Given the description of an element on the screen output the (x, y) to click on. 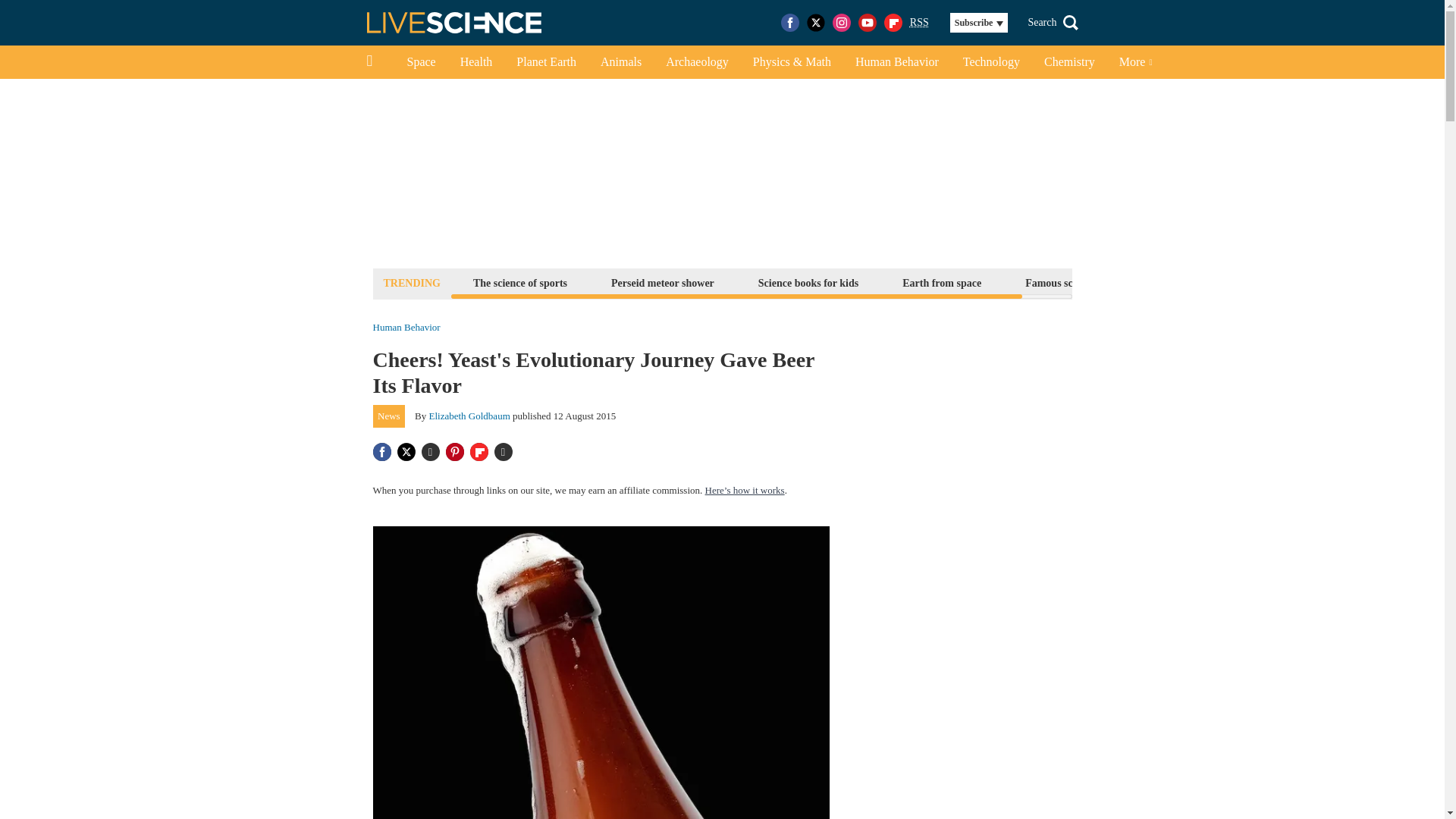
Elizabeth Goldbaum (470, 415)
Science books for kids (807, 282)
Perseid meteor shower (662, 282)
Human Behavior (406, 327)
Earth from space (941, 282)
The science of sports (519, 282)
Archaeology (697, 61)
Animals (620, 61)
Technology (991, 61)
Space (420, 61)
